Given the description of an element on the screen output the (x, y) to click on. 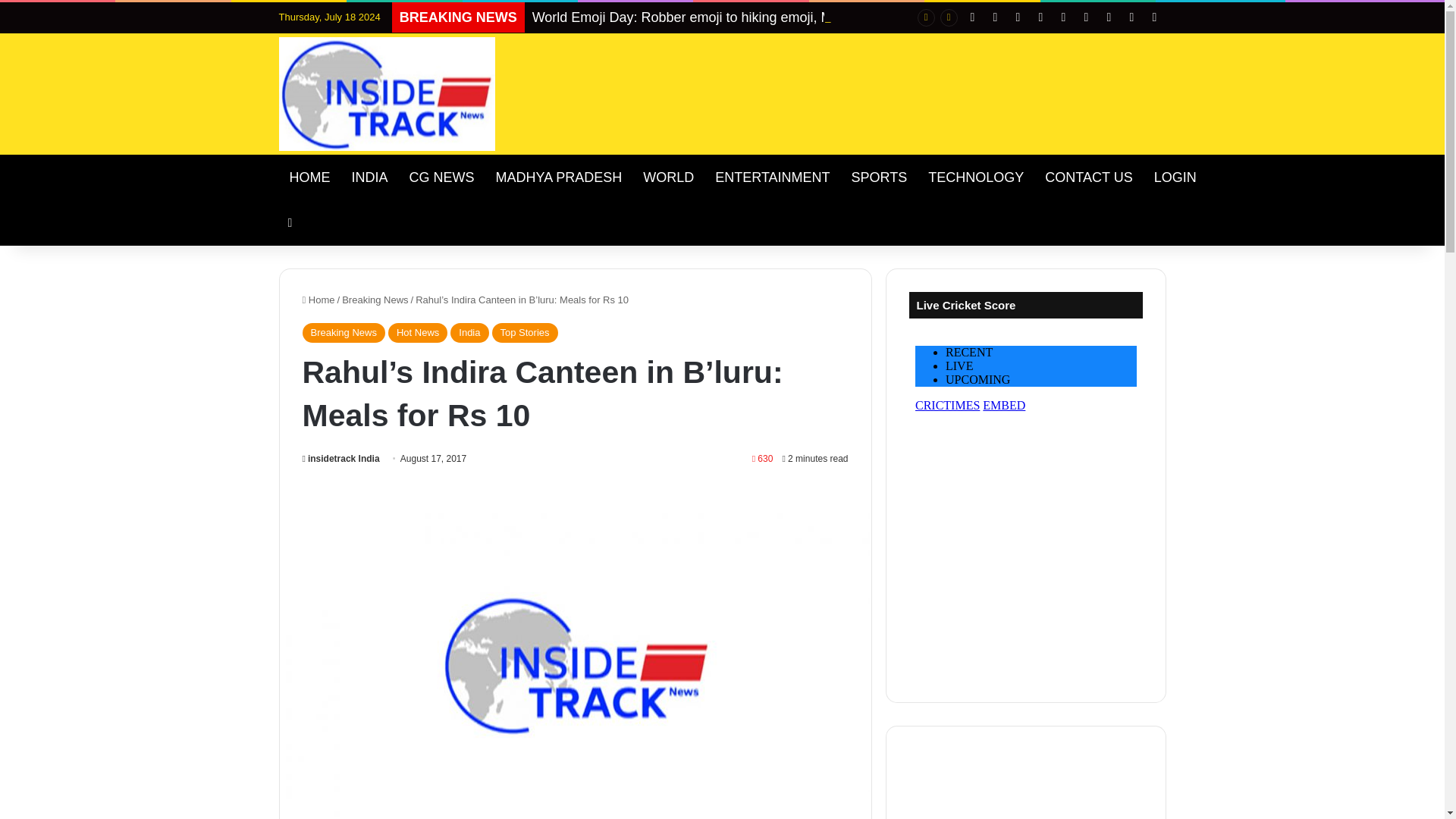
CONTACT US (1087, 176)
Hot News (417, 332)
LOGIN (1174, 176)
TECHNOLOGY (975, 176)
HOME (309, 176)
Top Stories (524, 332)
INDIA (369, 176)
Breaking News (374, 299)
ENTERTAINMENT (772, 176)
insidetrack India (339, 458)
Home (317, 299)
MADHYA PRADESH (558, 176)
CG NEWS (441, 176)
Inside Track India (387, 93)
insidetrack India (339, 458)
